Given the description of an element on the screen output the (x, y) to click on. 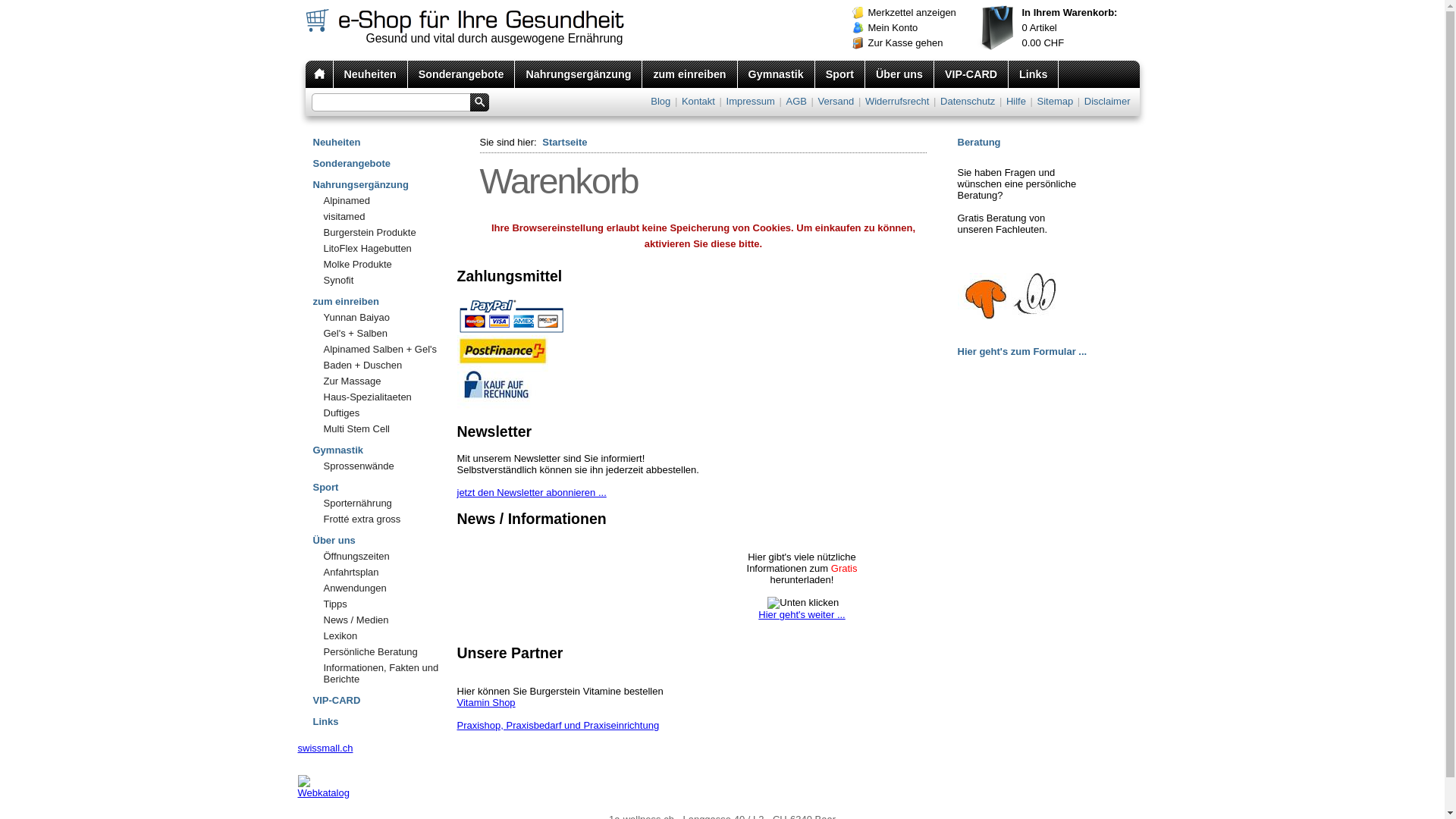
Impressum Element type: text (750, 100)
Zur Kasse gehen Element type: text (918, 42)
Hier geht's weiter ... Element type: text (801, 620)
Praxishop, Praxisbedarf und Praxiseinrichtung Element type: text (557, 725)
Sonderangebote Element type: text (461, 73)
Hilfe Element type: text (1015, 100)
Startseite Element type: text (564, 141)
Multi Stem Cell Element type: text (384, 428)
Synofit Element type: text (384, 280)
Alpinamed Element type: text (384, 200)
zum einreiben Element type: text (689, 73)
Blog Element type: text (660, 100)
Neuheiten Element type: text (370, 73)
Sonderangebote Element type: text (384, 160)
Molke Produkte Element type: text (384, 264)
News / Medien Element type: text (384, 619)
Links Element type: text (1033, 73)
Neuheiten Element type: text (384, 139)
Sitemap Element type: text (1055, 100)
Mein Konto Element type: text (918, 27)
Gel's + Salben Element type: text (384, 333)
swissmall.ch Element type: text (324, 747)
Sport Element type: text (384, 484)
Anwendungen Element type: text (384, 588)
Anfahrtsplan Element type: text (384, 572)
Lexikon Element type: text (384, 635)
Hier geht's zum Formular ... Element type: text (1021, 351)
Sport Element type: text (840, 73)
zum einreiben Element type: text (384, 298)
Merkzettel anzeigen Element type: text (918, 12)
Links Element type: text (384, 718)
Alpinamed Salben + Gel's Element type: text (384, 349)
jetzt den Newsletter abonnieren ... Element type: text (530, 492)
Versand Element type: text (836, 100)
Datenschutz Element type: text (967, 100)
Disclaimer Element type: text (1107, 100)
Yunnan Baiyao Element type: text (384, 317)
Vitamin Shop Element type: text (485, 702)
VIP-CARD Element type: text (384, 697)
visitamed Element type: text (384, 216)
AGB Element type: text (795, 100)
Gymnastik Element type: text (776, 73)
Baden + Duschen Element type: text (384, 365)
Widerrufsrecht Element type: text (897, 100)
Webkatalog Element type: text (322, 792)
Duftiges Element type: text (384, 412)
Zur Massage Element type: text (384, 381)
In Ihrem Warenkorb:
0 Artikel
0.00 CHF Element type: text (1057, 27)
Burgerstein Produkte Element type: text (384, 232)
LitoFlex Hagebutten Element type: text (384, 248)
Haus-Spezialitaeten Element type: text (384, 396)
Informationen, Fakten und Berichte Element type: text (384, 673)
Kontakt Element type: text (698, 100)
VIP-CARD Element type: text (971, 73)
Gymnastik Element type: text (384, 447)
Tipps Element type: text (384, 603)
